Given the description of an element on the screen output the (x, y) to click on. 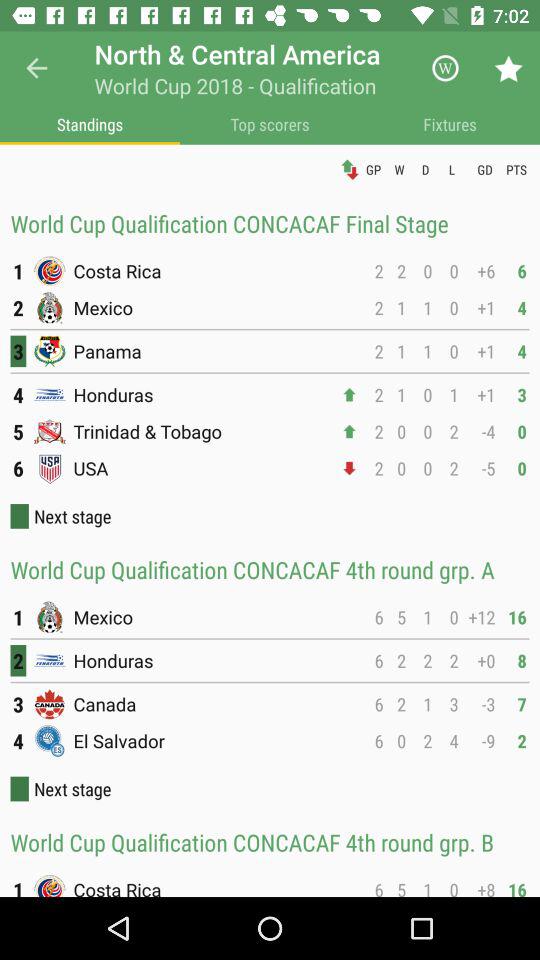
tap the app to the left of top scorers app (90, 124)
